Given the description of an element on the screen output the (x, y) to click on. 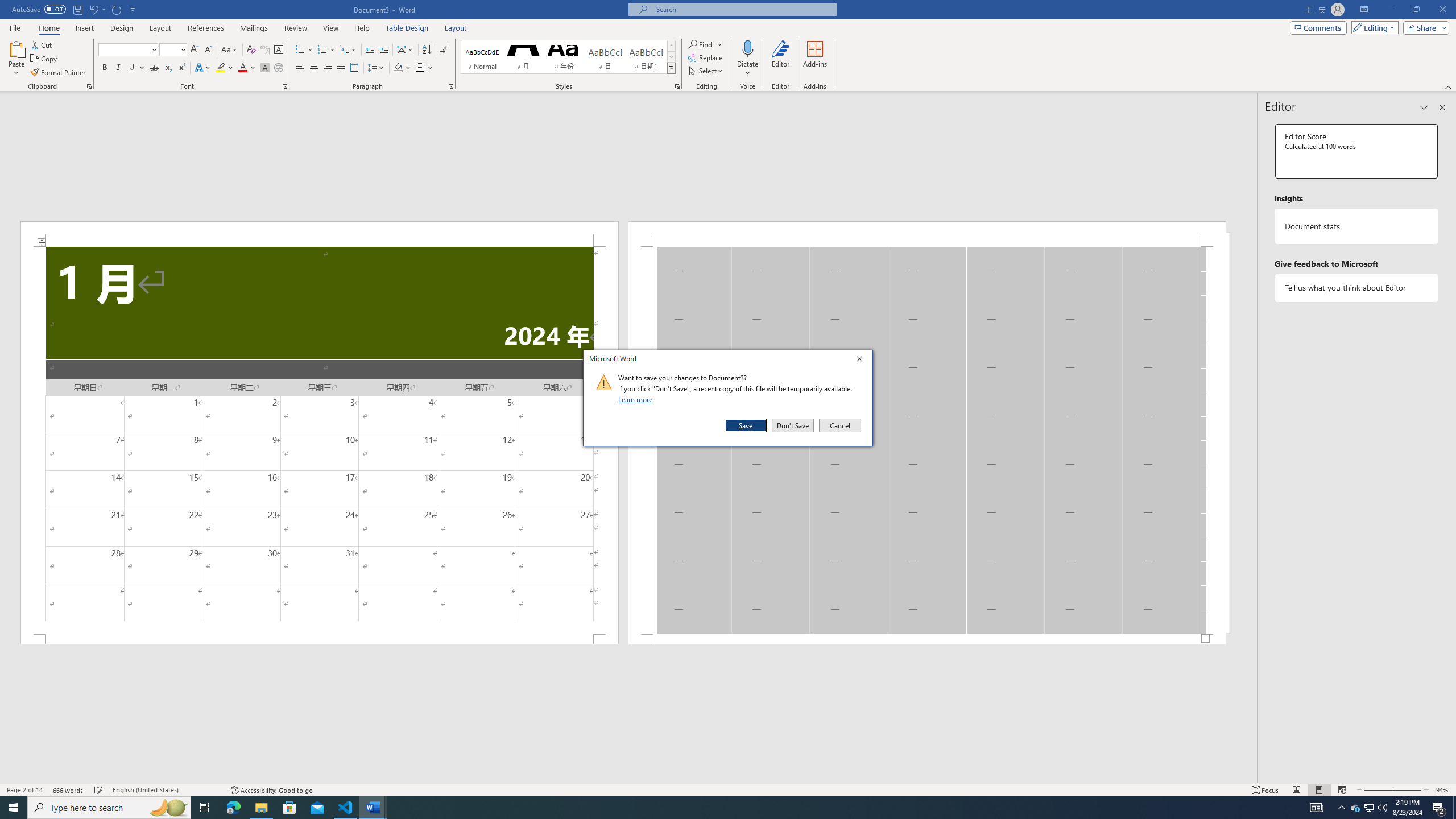
System (6, 6)
Dictate (747, 48)
Zoom Out (1377, 790)
Undo Apply Quick Style (92, 9)
Font Color (246, 67)
Subscript (167, 67)
View (330, 28)
Font... (285, 85)
Insert (83, 28)
Bullets (300, 49)
Open (182, 49)
Font (124, 49)
Footer -Section 1- (926, 638)
Editor (780, 58)
